Given the description of an element on the screen output the (x, y) to click on. 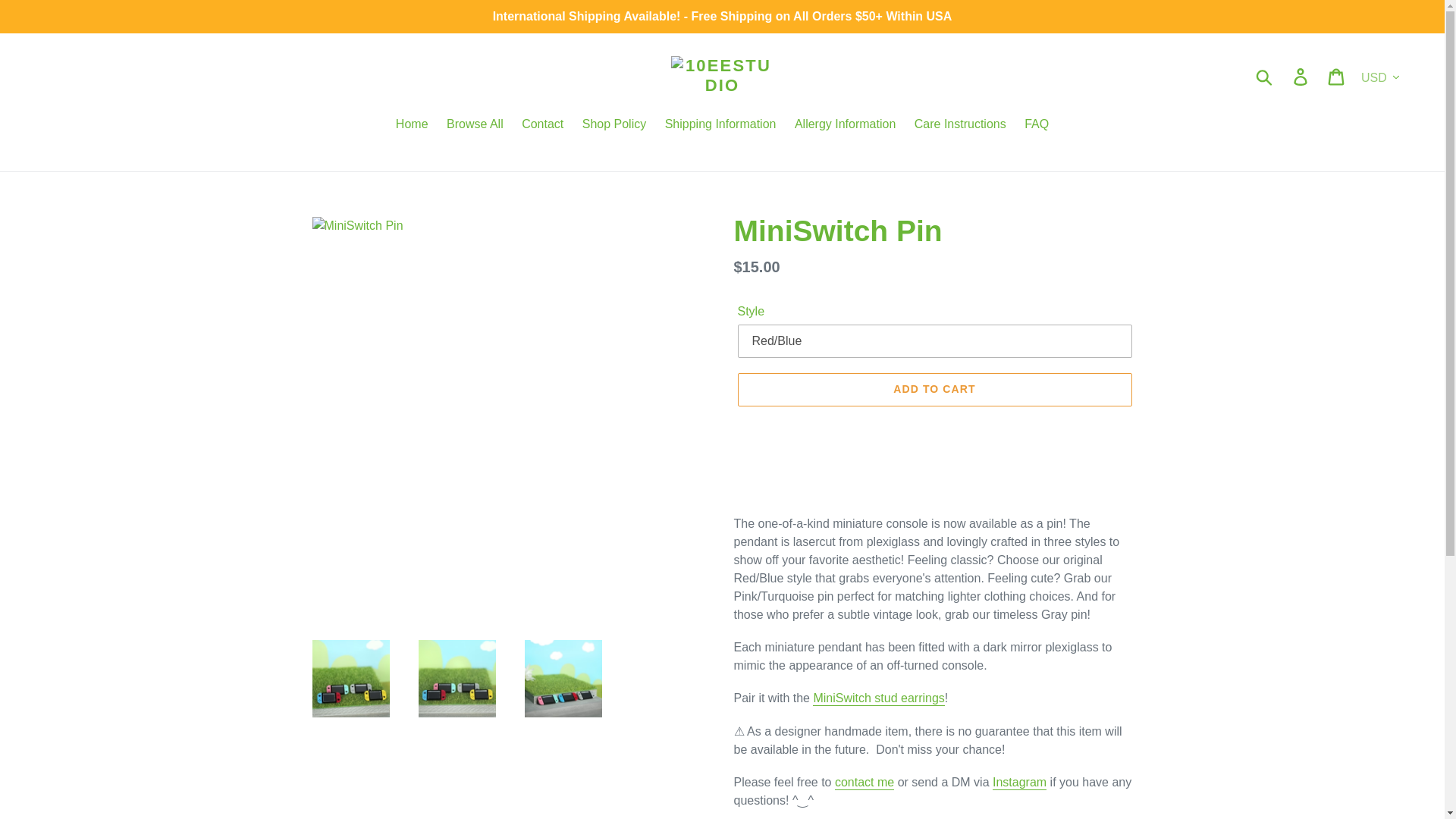
Instagram (1019, 782)
MiniSwitch stud earrings (877, 698)
Cart (1337, 75)
Contact (541, 125)
Shipping Information (721, 125)
Submit (1265, 75)
Browse All (475, 125)
Allergy Information (844, 125)
Care Instructions (960, 125)
contact me (863, 782)
